Given the description of an element on the screen output the (x, y) to click on. 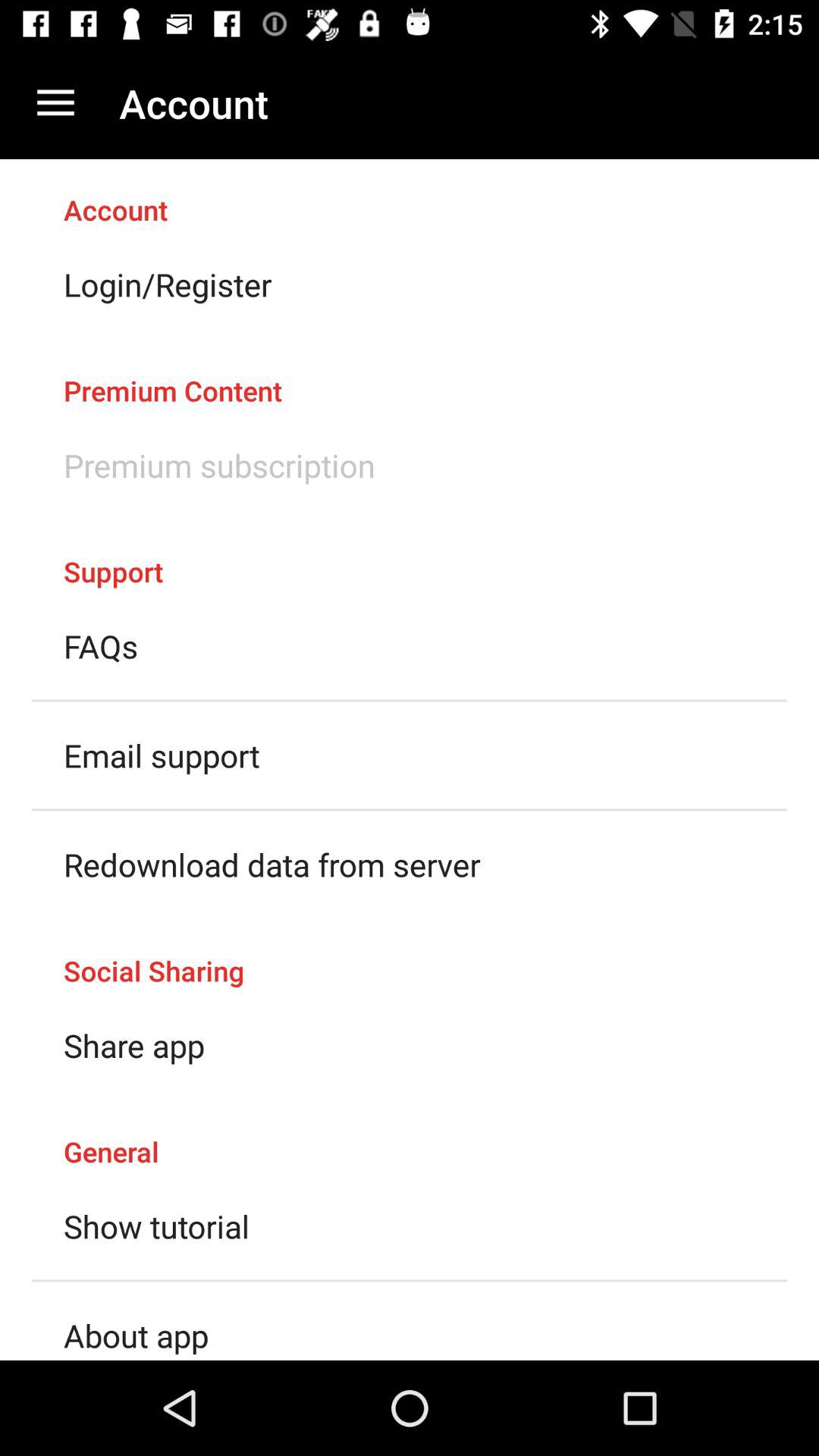
launch the item above general (133, 1044)
